Given the description of an element on the screen output the (x, y) to click on. 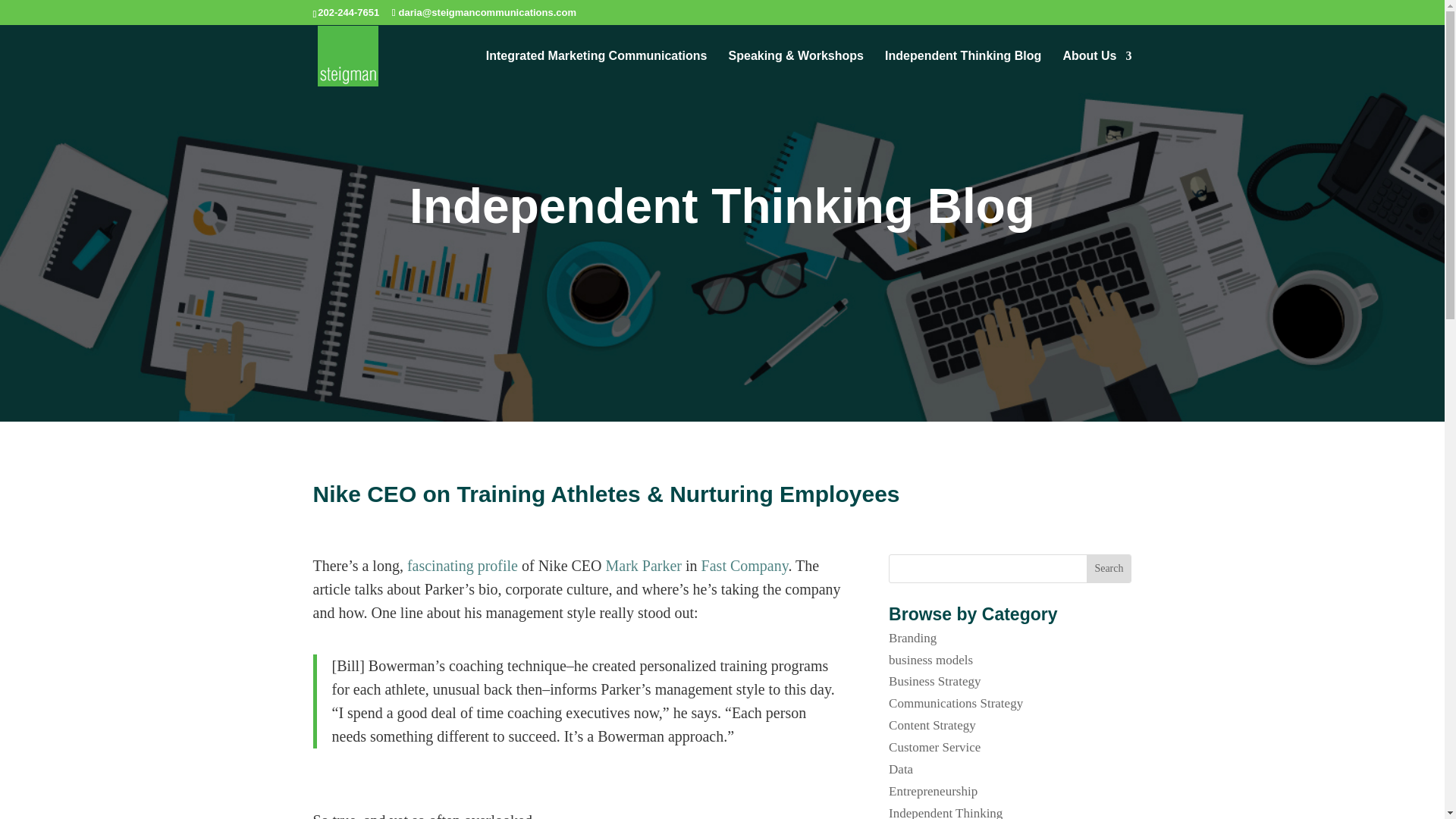
Data (900, 769)
Nike CEO Mark Parker (643, 565)
Customer Service (933, 747)
business models (930, 659)
Mark Parker (643, 565)
202-244-7651 (347, 12)
Independent Thinking Blog (963, 67)
Integrated Marketing Communications (596, 67)
About Us (1096, 67)
Search (1108, 568)
Communications Strategy (955, 703)
Content Strategy (931, 725)
fascinating profile (462, 565)
Search (1108, 568)
Fast Company (745, 565)
